Given the description of an element on the screen output the (x, y) to click on. 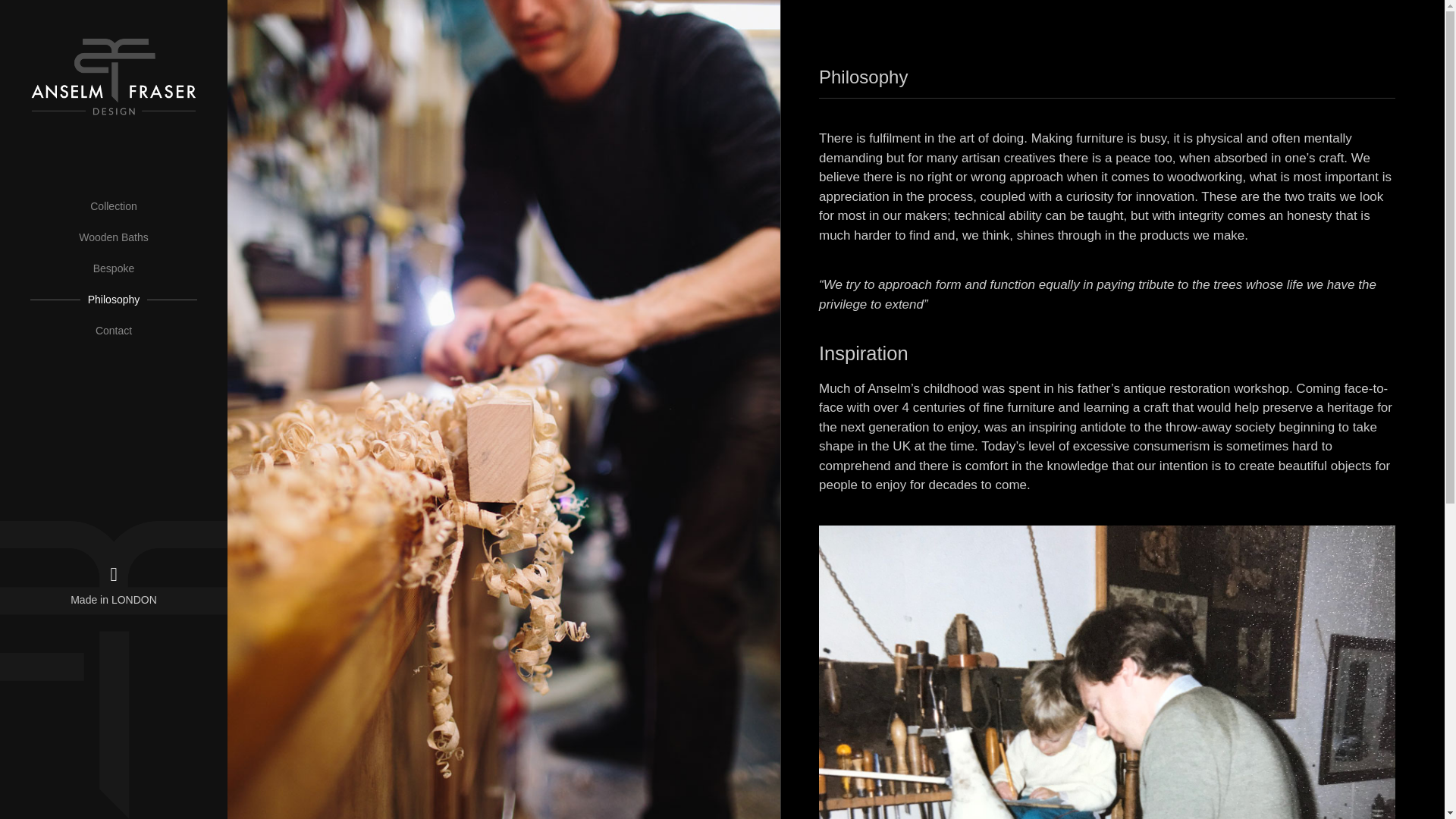
Philosophy (114, 299)
Contact (113, 330)
Collection (113, 205)
Wooden Baths (113, 237)
Bespoke (113, 268)
